Given the description of an element on the screen output the (x, y) to click on. 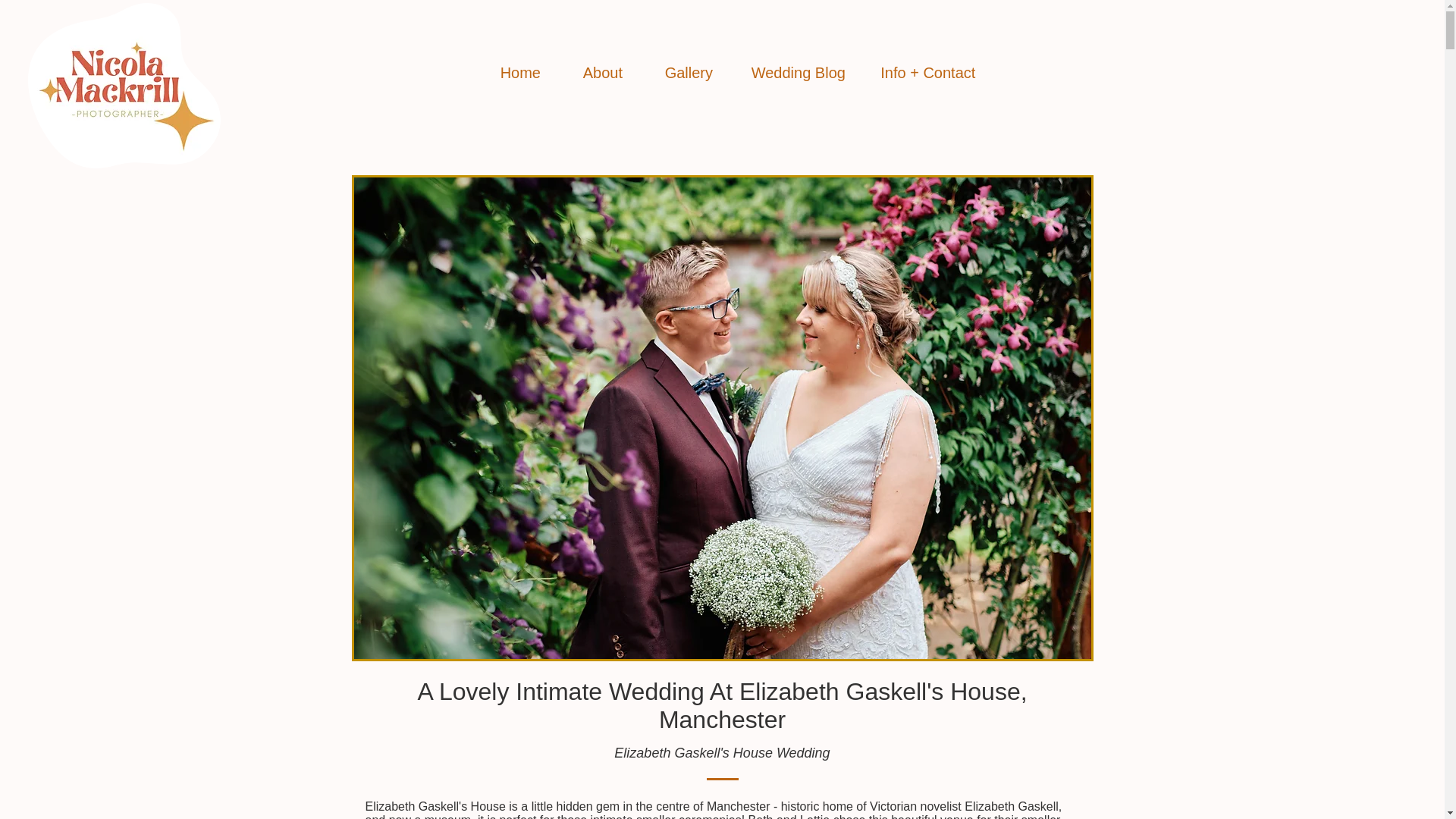
Wedding Blog (798, 72)
About (601, 72)
Gallery (688, 72)
Home (519, 72)
